Given the description of an element on the screen output the (x, y) to click on. 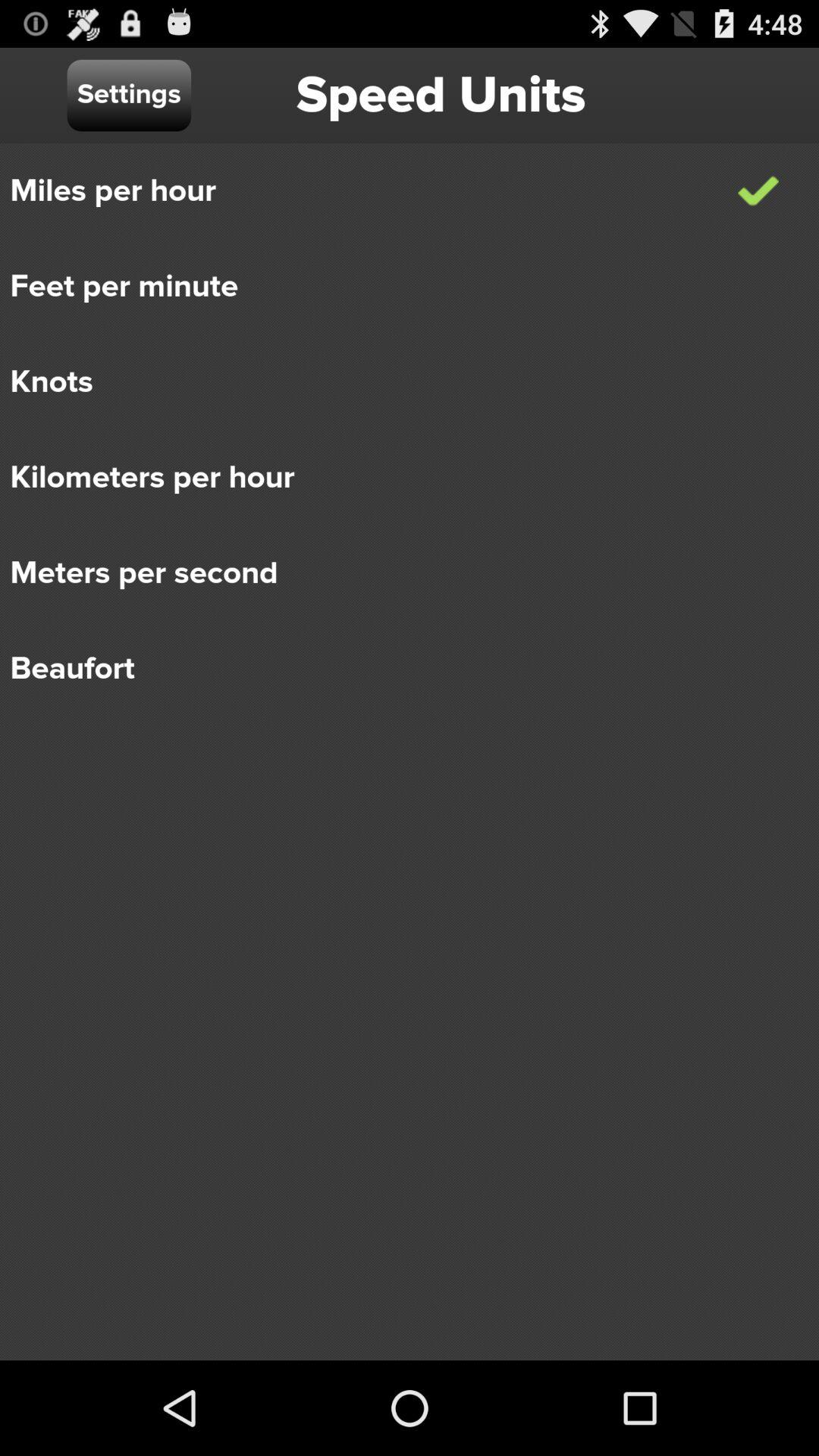
swipe to meters per second icon (399, 572)
